Given the description of an element on the screen output the (x, y) to click on. 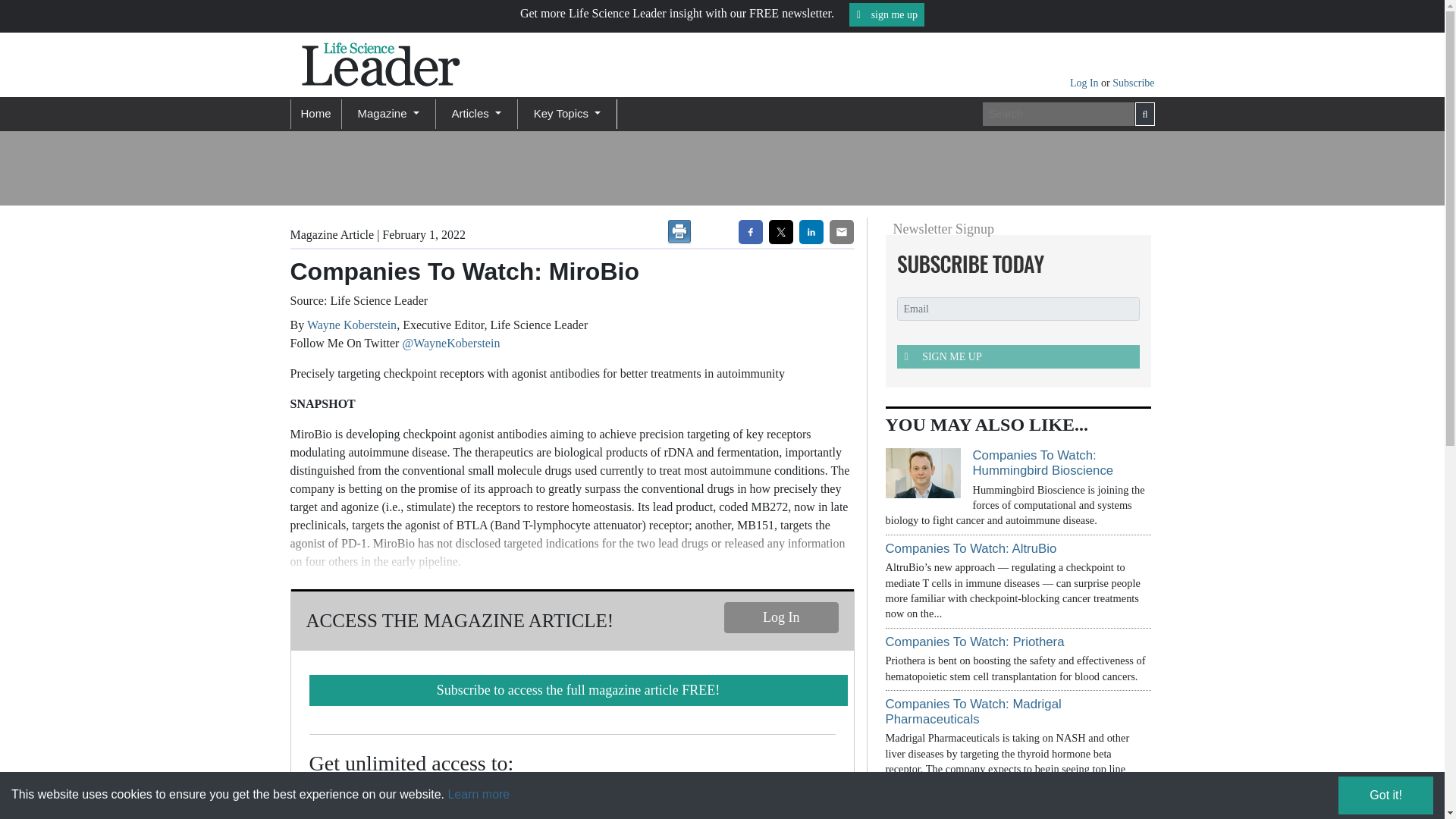
Home (314, 113)
Newsletter Signup (1013, 263)
Subscribe (1133, 82)
Articles (475, 113)
Log In (780, 617)
sign me up (886, 14)
Subscribe to access the full magazine article FREE! (577, 689)
3rd party ad content (623, 168)
Wayne Koberstein (351, 324)
Magazine (388, 113)
